Given the description of an element on the screen output the (x, y) to click on. 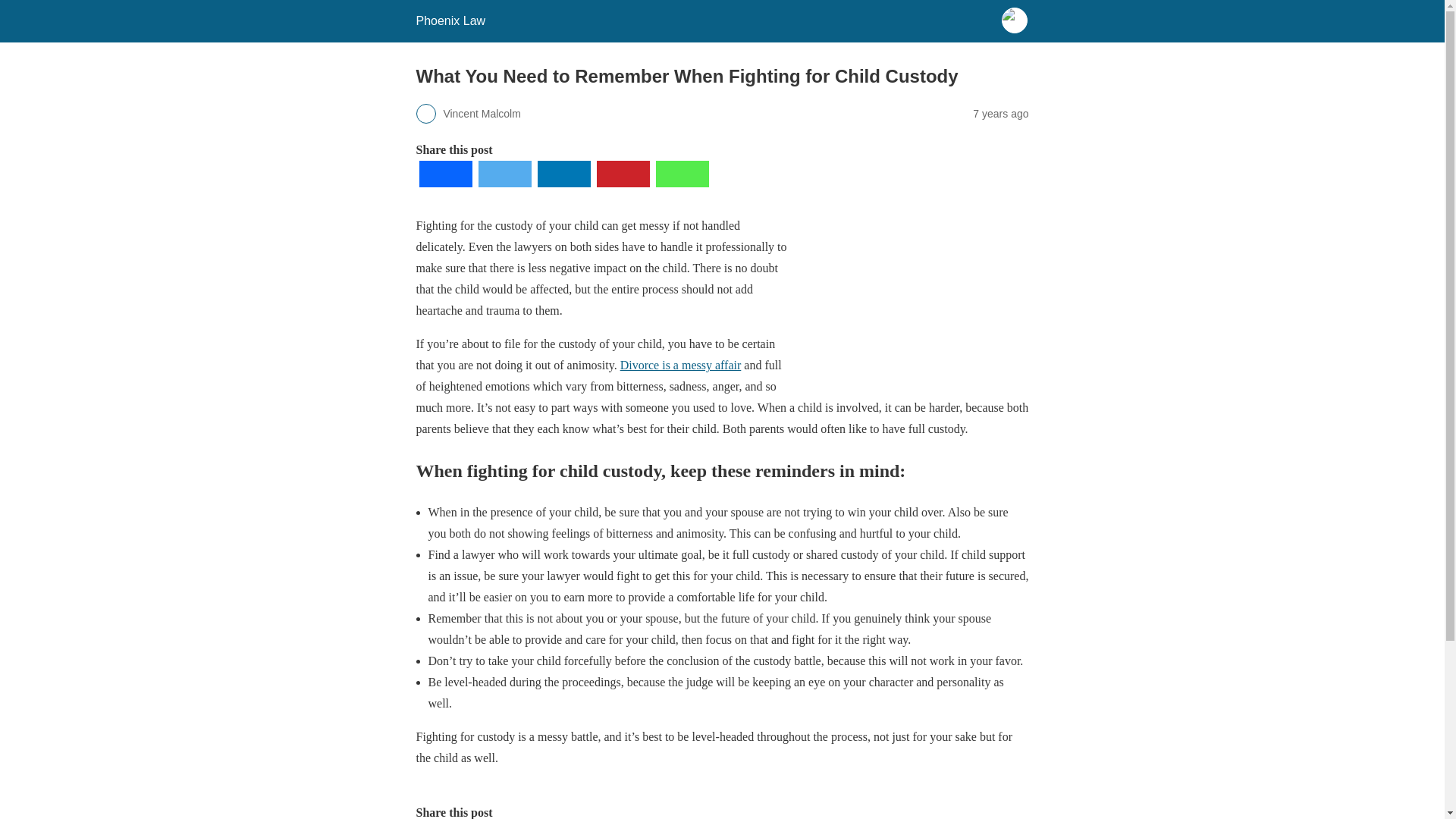
Linkedin (563, 182)
Twitter (504, 182)
Whatsapp (681, 182)
Divorce is a messy affair (680, 364)
Facebook (444, 182)
Phoenix Law (449, 20)
Pinterest (622, 182)
